Given the description of an element on the screen output the (x, y) to click on. 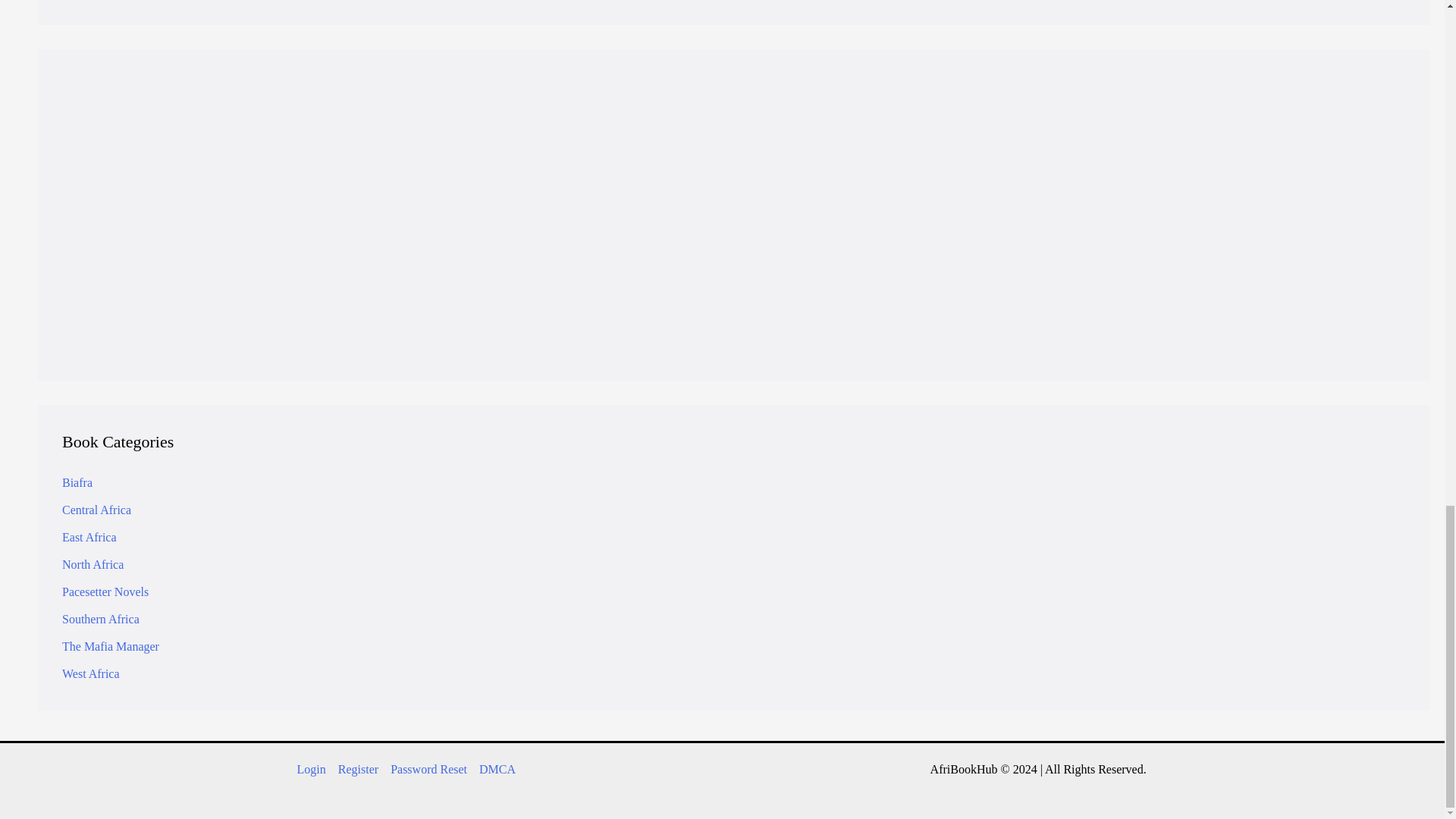
Pacesetter Novels (105, 591)
Biafra (77, 481)
Password Reset (428, 769)
The Mafia Manager (110, 645)
Central Africa (96, 509)
Login (644, 279)
West Africa (90, 673)
DMCA (494, 769)
Login (314, 769)
East Africa (89, 536)
